Given the description of an element on the screen output the (x, y) to click on. 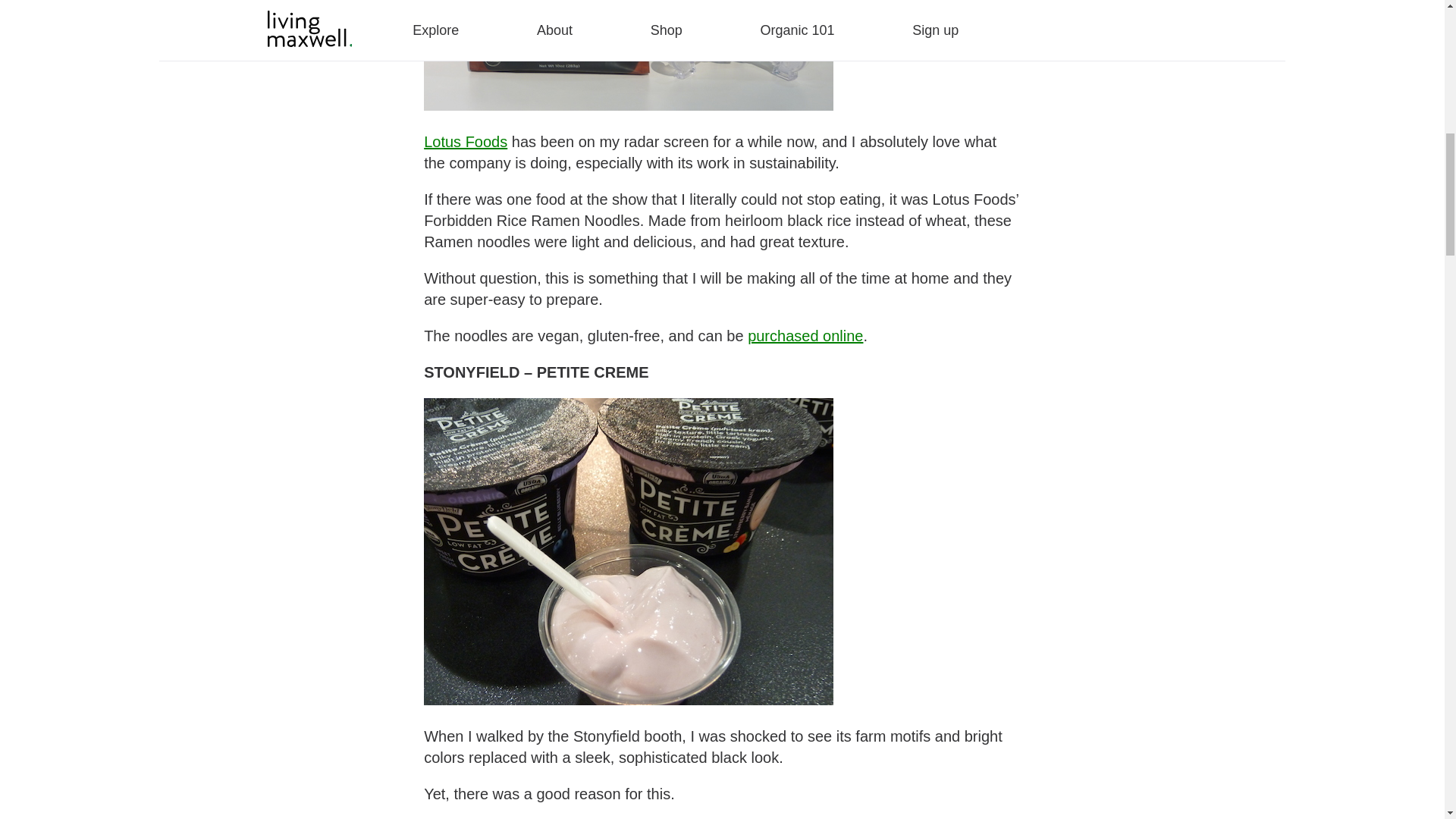
Lotus Foods (464, 141)
purchased online (805, 335)
